Given the description of an element on the screen output the (x, y) to click on. 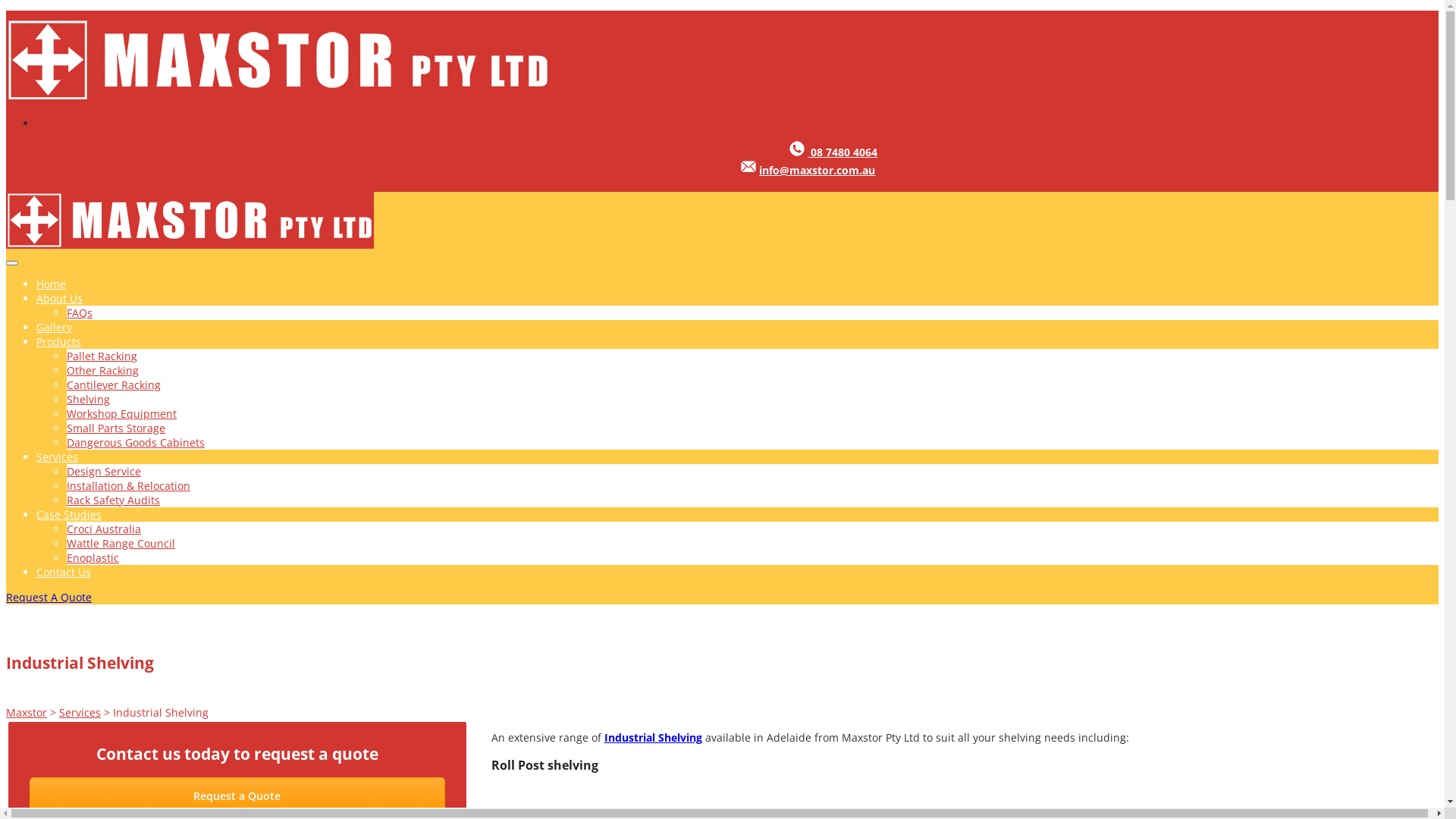
Maxstor Element type: text (26, 712)
Design Service Element type: text (103, 471)
Installation & Relocation Element type: text (128, 485)
Services Element type: text (57, 456)
Pallet Racking Element type: text (101, 355)
Gallery Element type: text (54, 327)
Enoplastic Element type: text (92, 557)
Request a Quote Element type: text (237, 795)
Wattle Range Council Element type: text (120, 543)
Shelving Element type: text (87, 399)
info@maxstor.com.au Element type: text (817, 170)
Small Parts Storage Element type: text (115, 427)
Croci Australia Element type: text (103, 528)
Dangerous Goods Cabinets Element type: text (135, 442)
Workshop Equipment Element type: text (121, 413)
Case Studies Element type: text (68, 514)
Services Element type: text (79, 712)
Request A Quote Element type: text (48, 596)
FAQs Element type: text (79, 312)
08 7480 4064 Element type: text (842, 151)
Rack Safety Audits Element type: text (113, 499)
Contact Us Element type: text (63, 571)
Maxstor Element type: hover (189, 244)
Maxstor Element type: hover (278, 98)
Other Racking Element type: text (102, 370)
Products Element type: text (58, 341)
Cantilever Racking Element type: text (113, 384)
About Us Element type: text (59, 298)
Home Element type: text (50, 283)
Industrial Shelving Element type: text (653, 737)
